Given the description of an element on the screen output the (x, y) to click on. 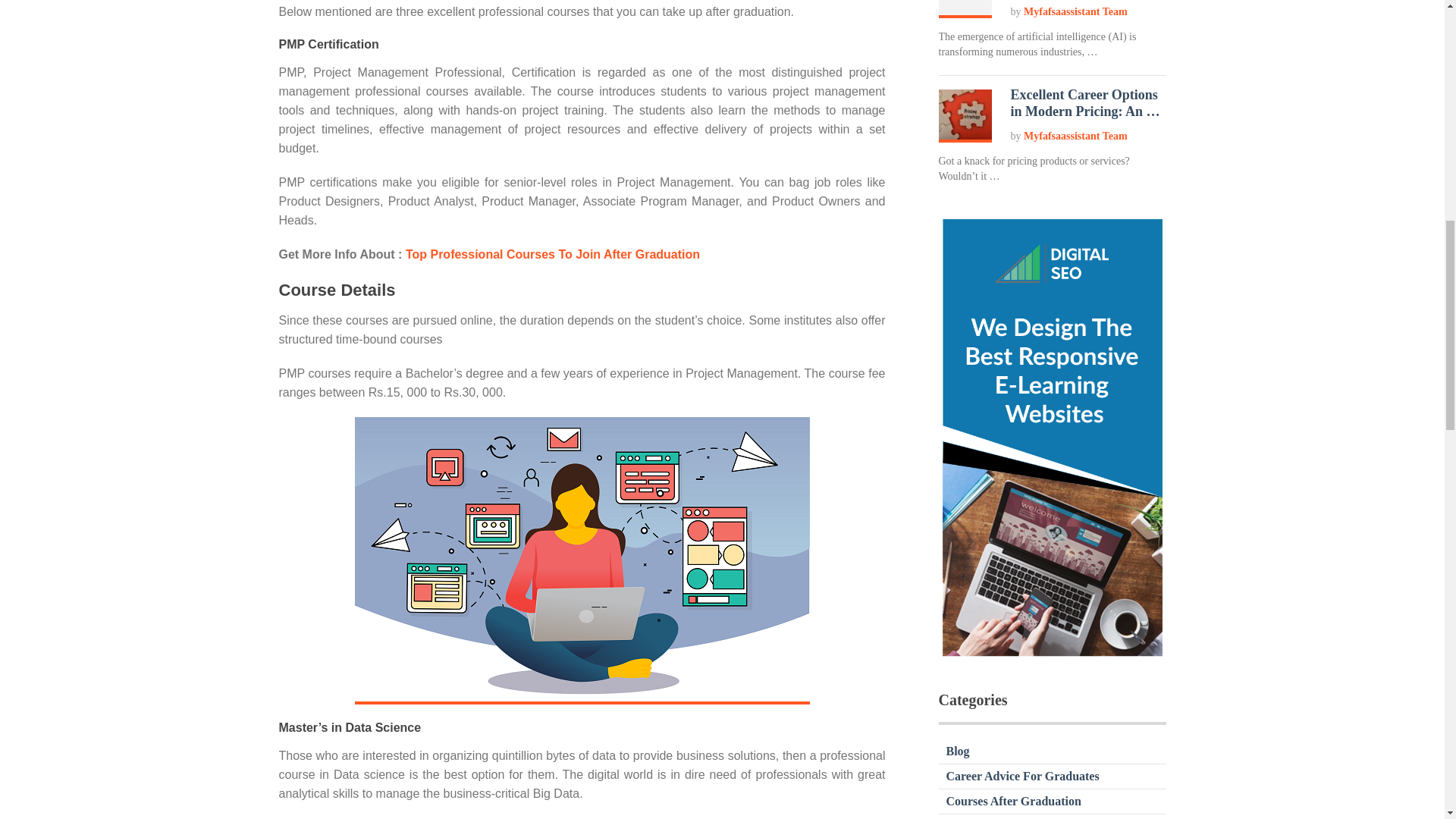
Top Professional Courses To Join After Graduation (553, 254)
